Given the description of an element on the screen output the (x, y) to click on. 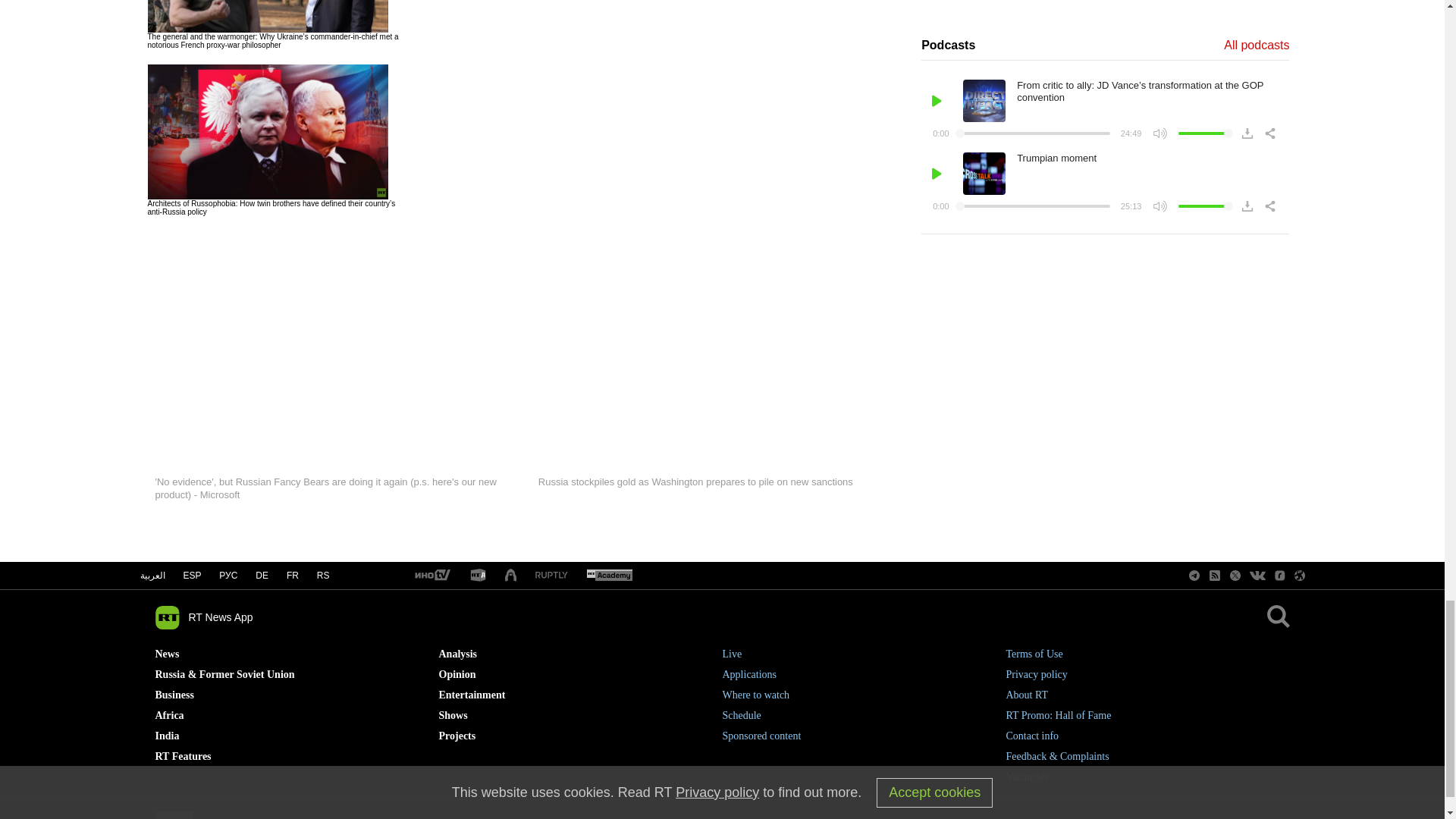
RT  (478, 575)
RT  (551, 575)
RT  (431, 575)
RT  (608, 575)
